Given the description of an element on the screen output the (x, y) to click on. 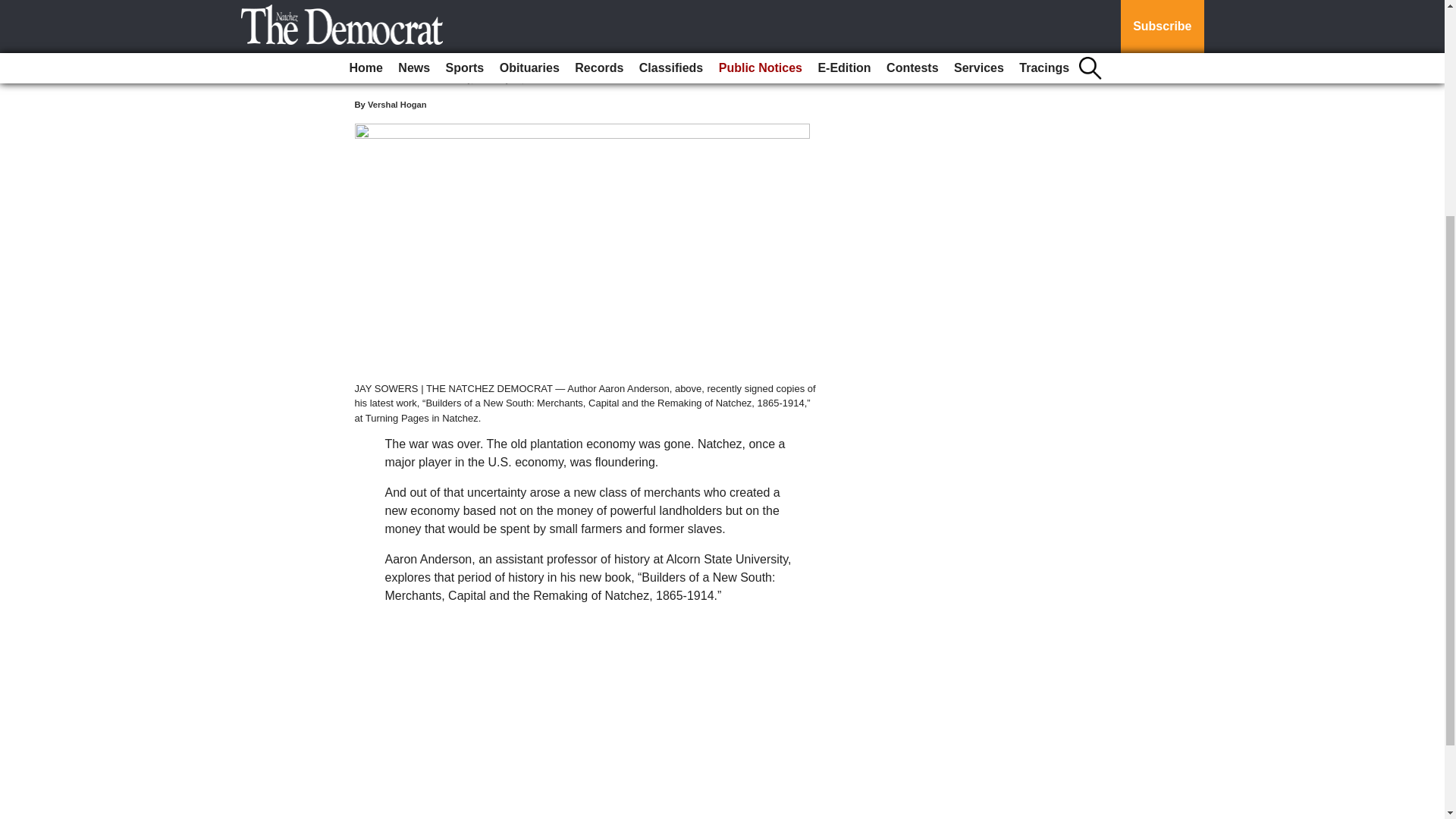
Vershal Hogan (397, 103)
